Given the description of an element on the screen output the (x, y) to click on. 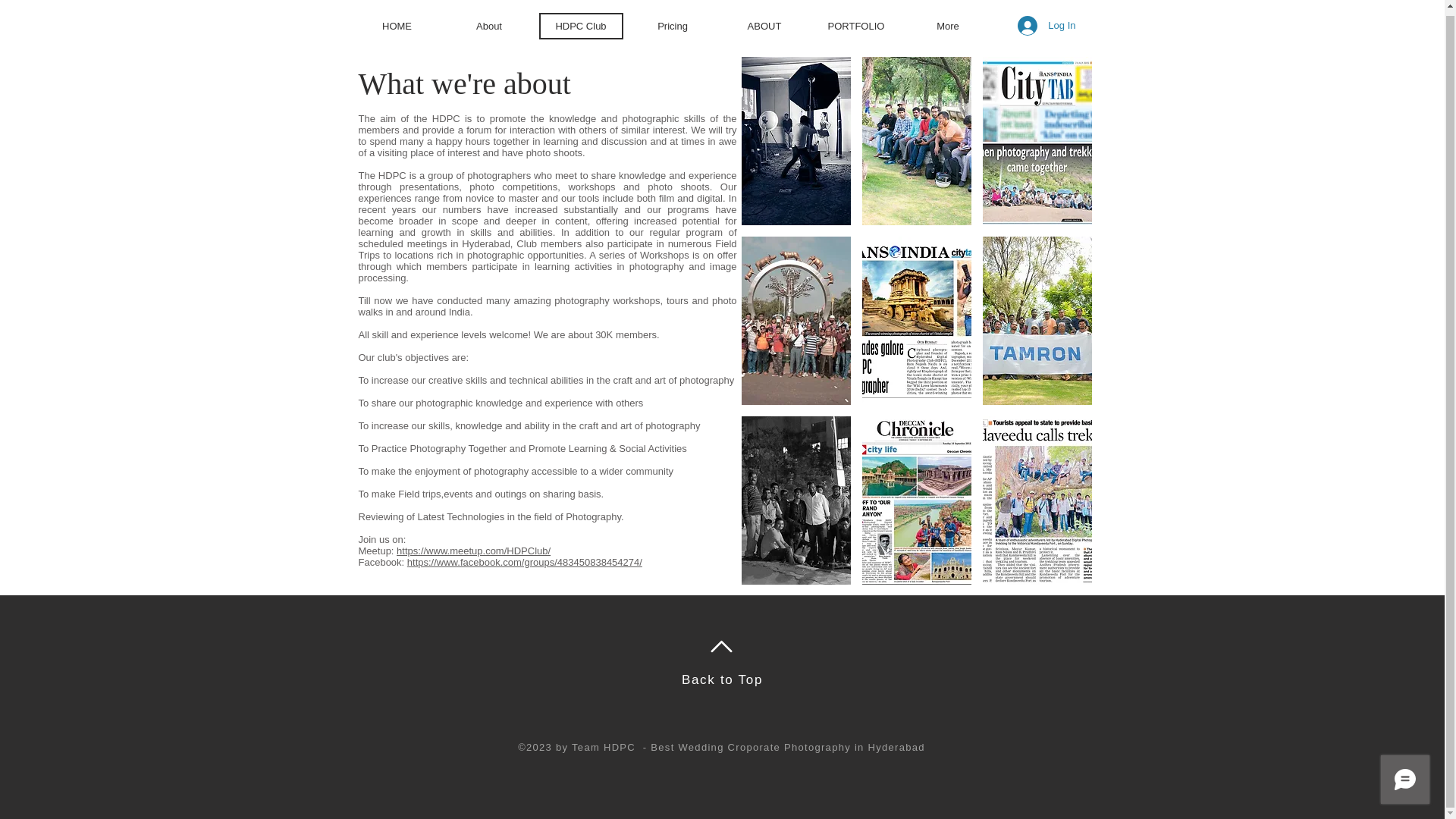
PORTFOLIO (855, 26)
About (488, 26)
HDPC Club (580, 26)
ABOUT (764, 26)
Log In (1046, 25)
Pricing (672, 26)
HOME (397, 26)
Back to Top (721, 679)
